Given the description of an element on the screen output the (x, y) to click on. 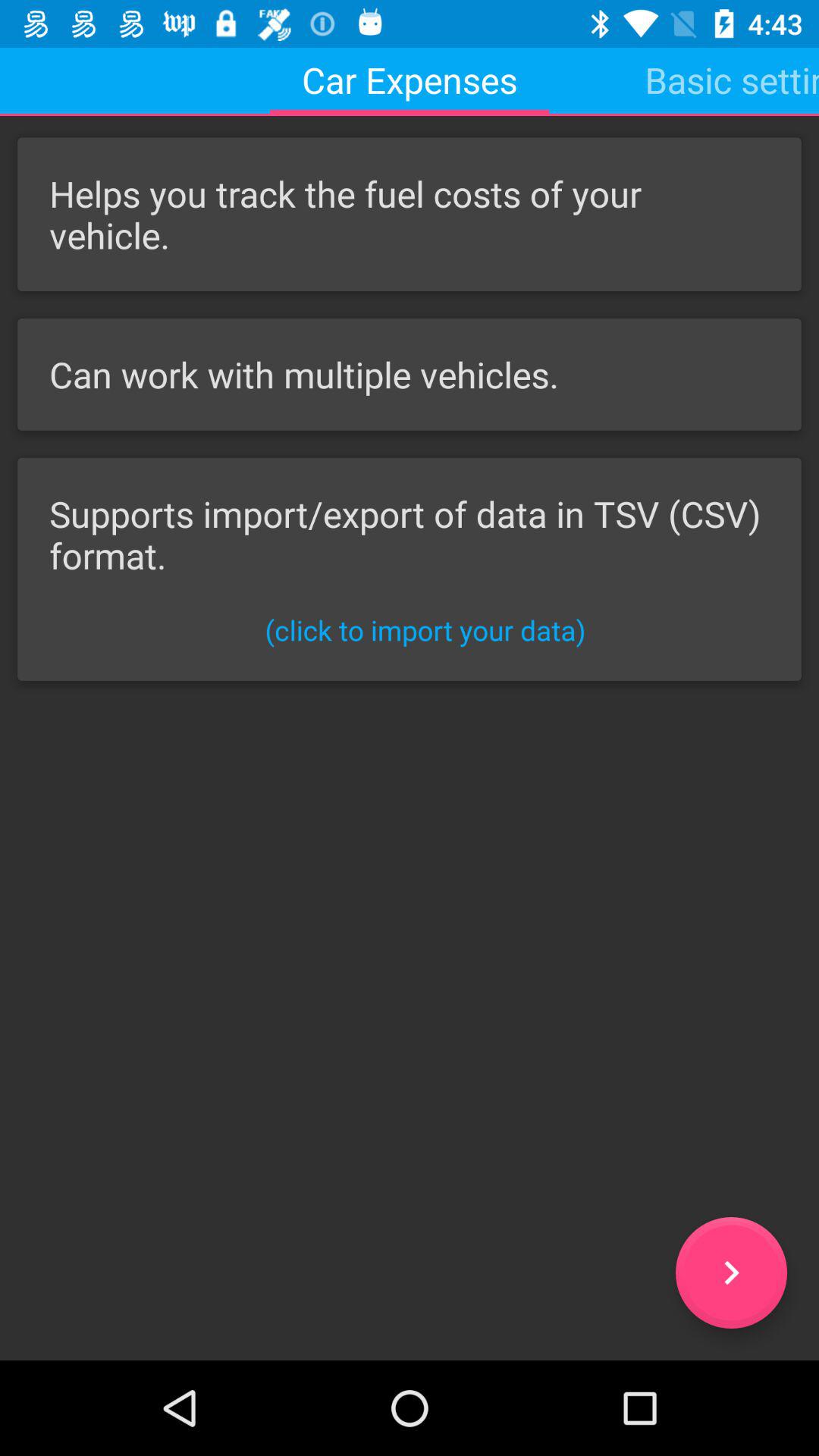
press icon below the supports import export (425, 629)
